Given the description of an element on the screen output the (x, y) to click on. 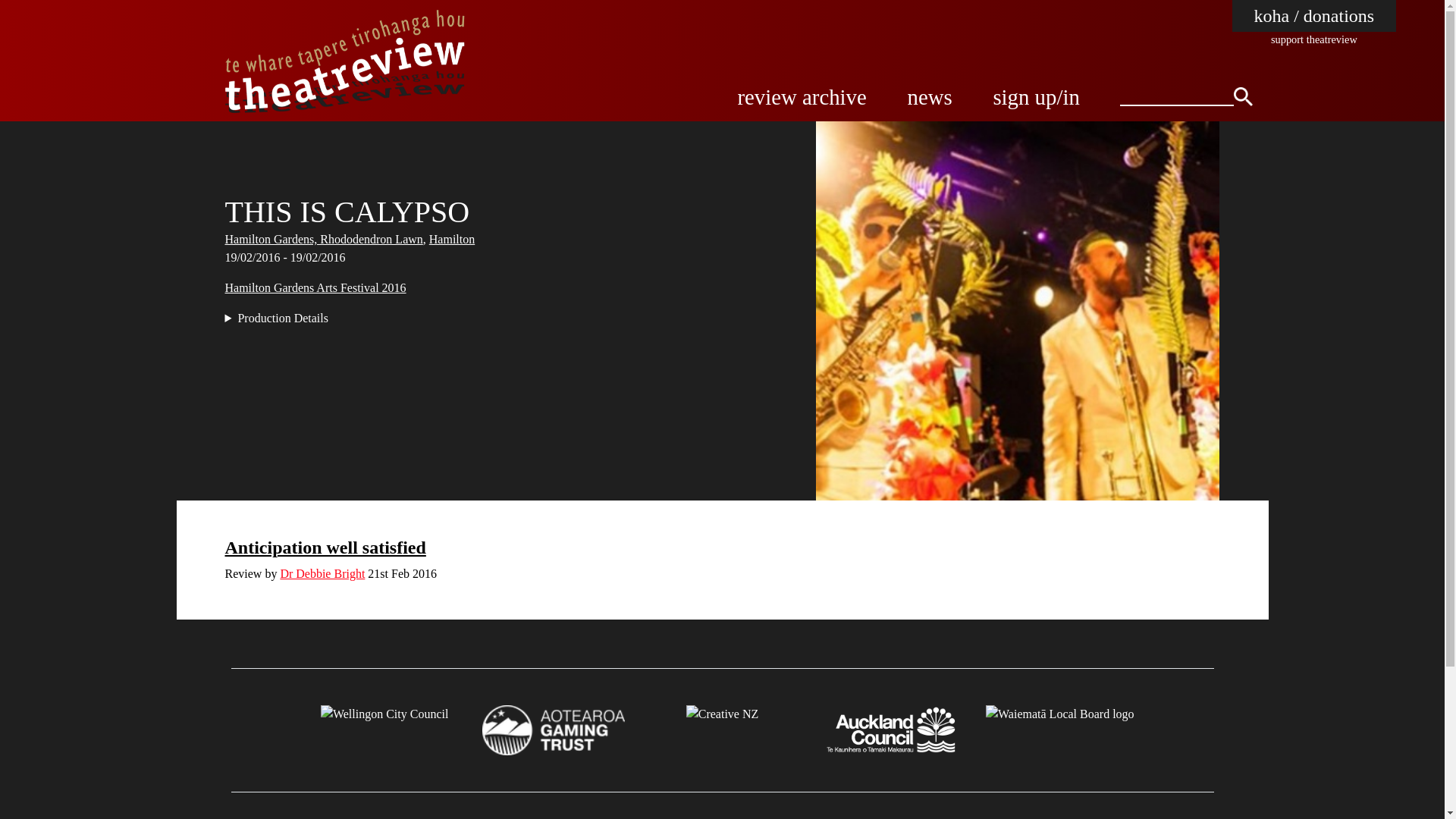
Dr Debbie Bright (322, 573)
Hamilton Gardens Arts Festival 2016 (315, 287)
review archive (801, 96)
Hamilton (451, 238)
Hamilton Gardens, Rhododendron Lawn (323, 238)
news (929, 96)
